Given the description of an element on the screen output the (x, y) to click on. 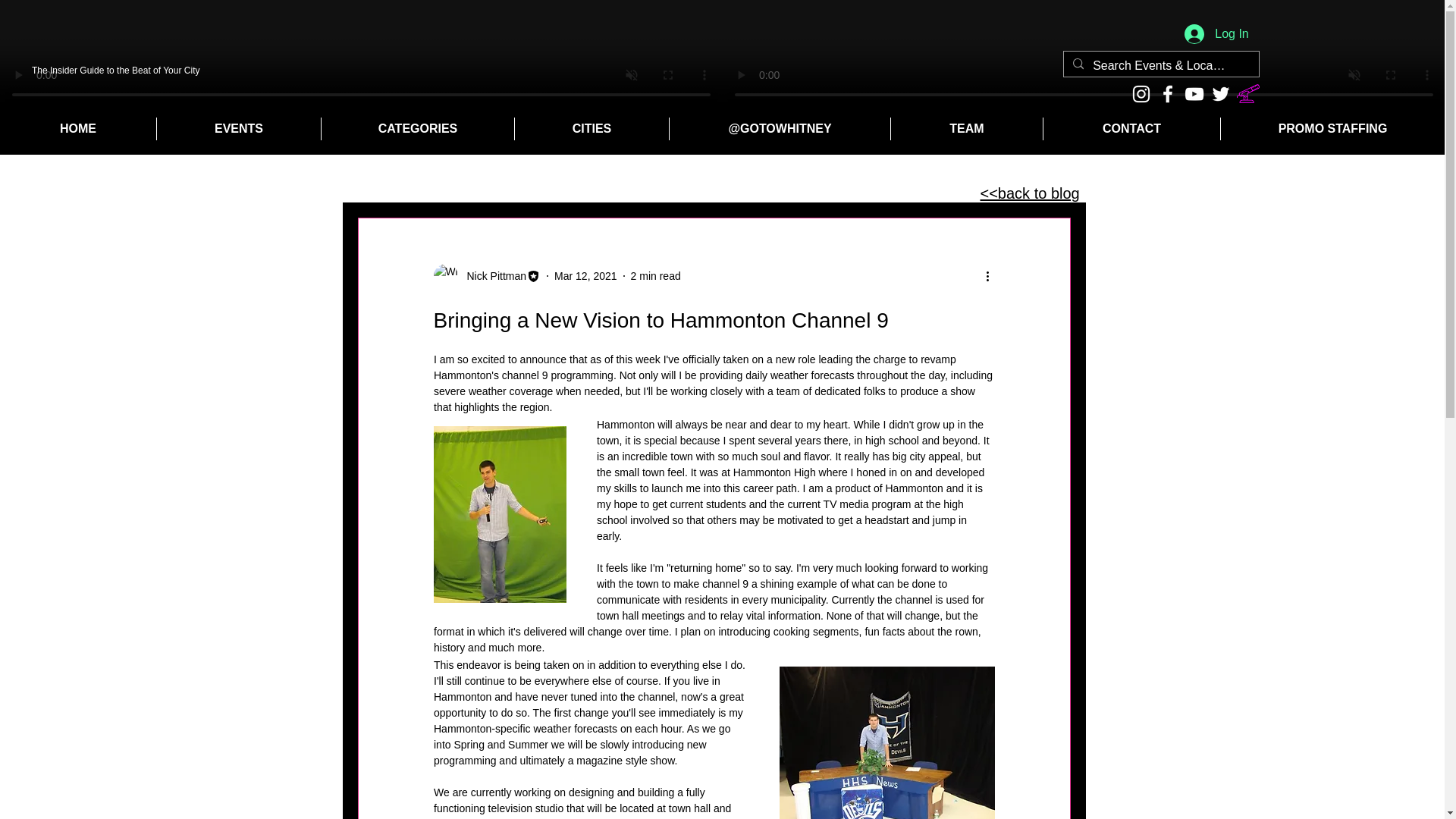
Nick Pittman (492, 276)
CONTACT (1131, 128)
HOME (77, 128)
2 min read (655, 275)
Nick Pittman (487, 275)
TEAM (965, 128)
EVENTS (237, 128)
Log In (1216, 33)
Mar 12, 2021 (585, 275)
